Given the description of an element on the screen output the (x, y) to click on. 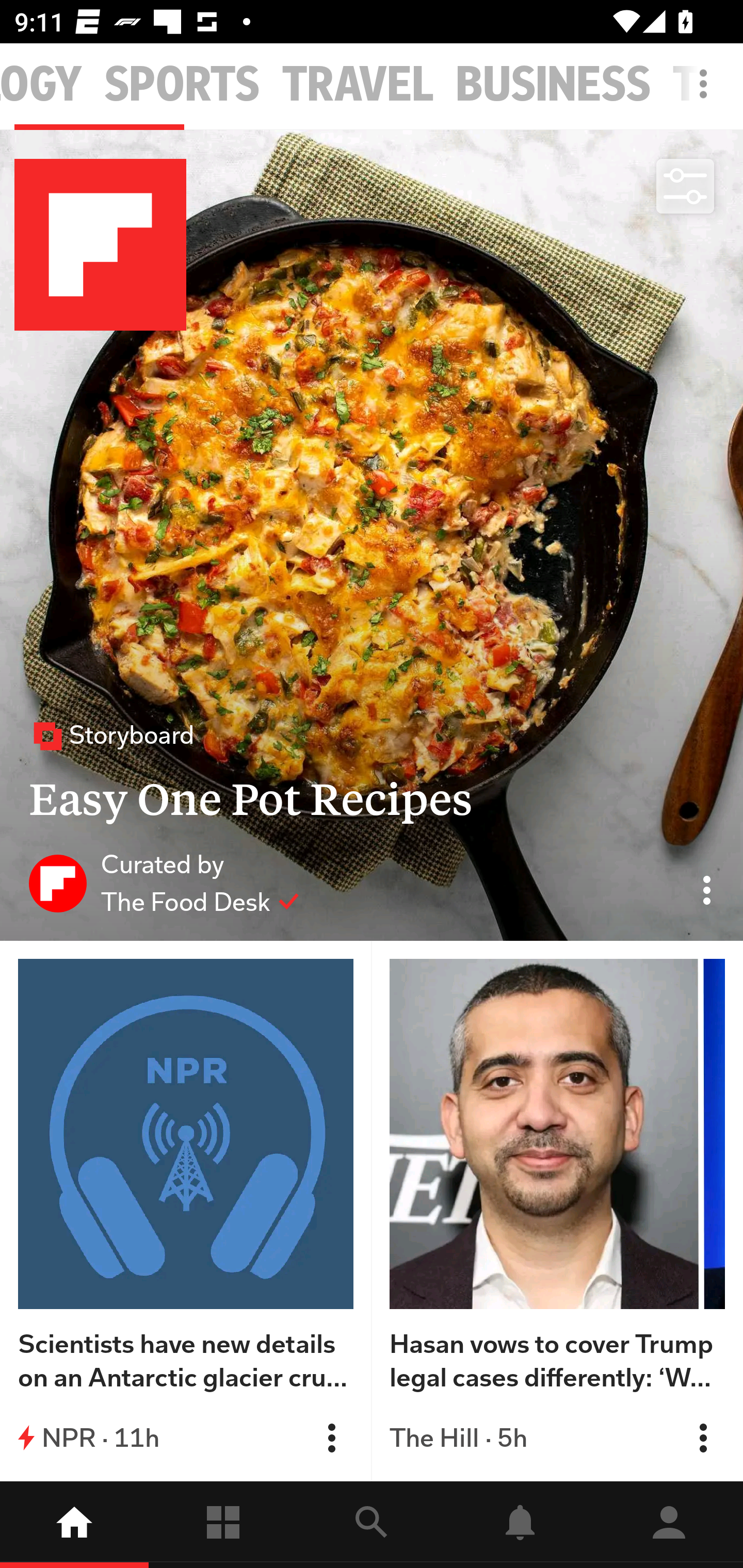
TECHNOLOGY (41, 84)
SPORTS (182, 84)
TRAVEL (357, 84)
BUSINESS (552, 84)
Edit Home (697, 83)
Curated by The Food Desk (163, 882)
NPR · 11h Flip into Magazine (185, 1437)
The Hill · 5h Flip into Magazine (557, 1437)
Flip into Magazine (331, 1437)
Flip into Magazine (703, 1437)
home (74, 1524)
Following (222, 1524)
explore (371, 1524)
Notifications (519, 1524)
Profile (668, 1524)
